Given the description of an element on the screen output the (x, y) to click on. 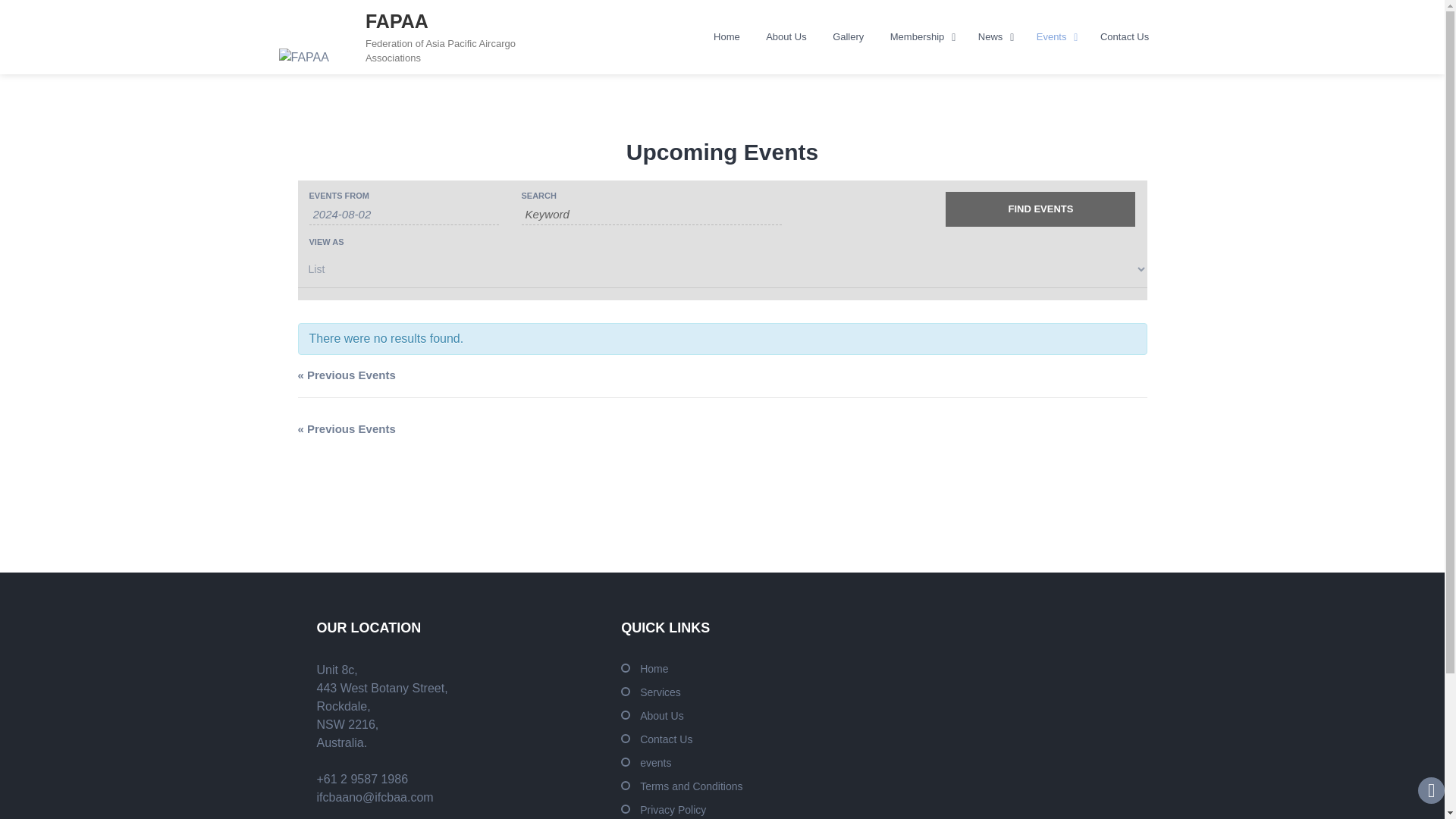
Membership (921, 37)
About Us (785, 37)
Home (726, 37)
2024-08-02 (403, 214)
FAPAA (396, 20)
Events (1055, 37)
Find Events (1039, 208)
Contact Us (1124, 37)
News (994, 37)
